Given the description of an element on the screen output the (x, y) to click on. 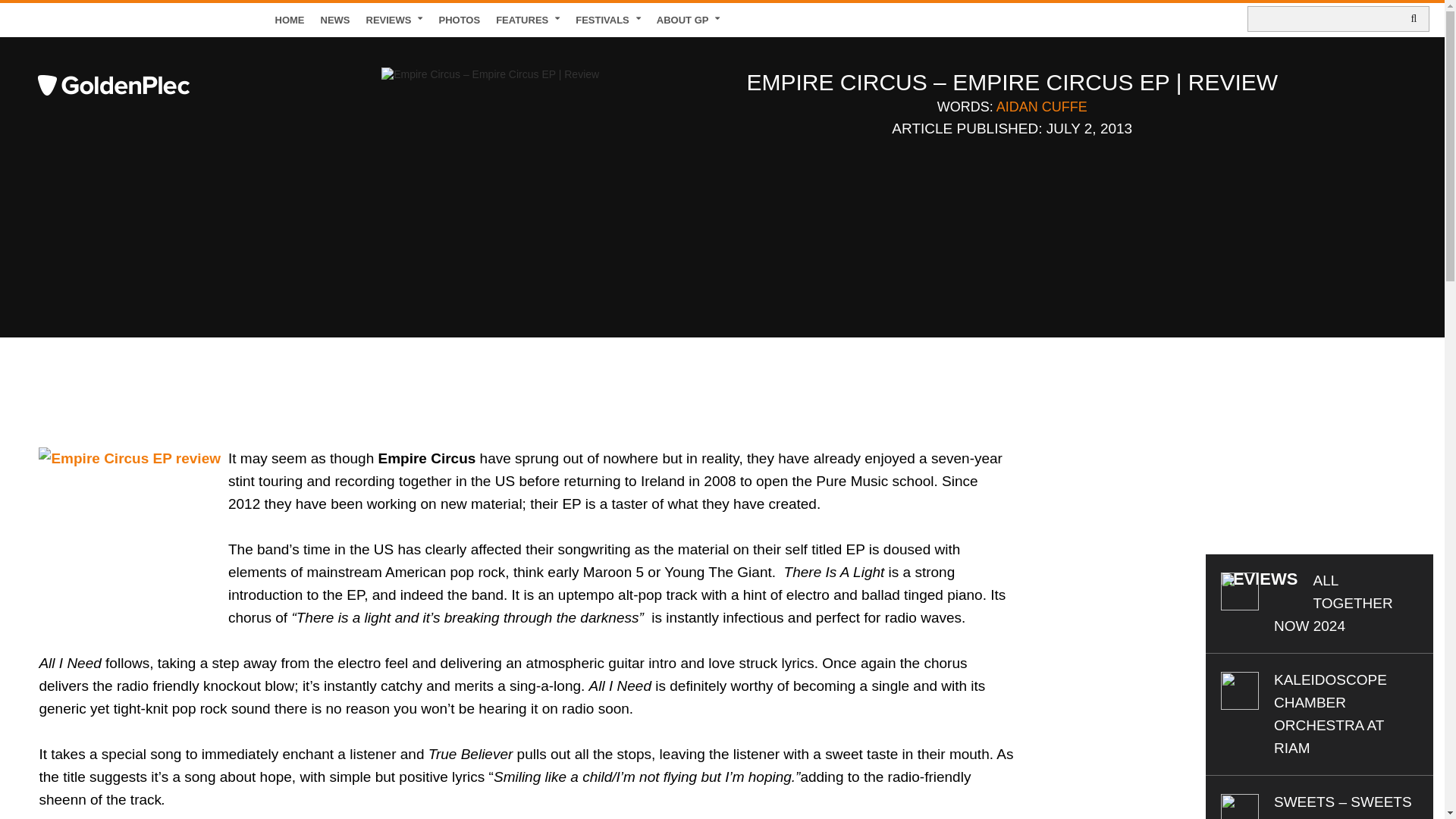
HOME (289, 19)
FEATURES (527, 19)
REVIEWS (394, 19)
ABOUT GP (689, 19)
PHOTOS (458, 19)
FESTIVALS (608, 19)
NEWS (335, 19)
